Given the description of an element on the screen output the (x, y) to click on. 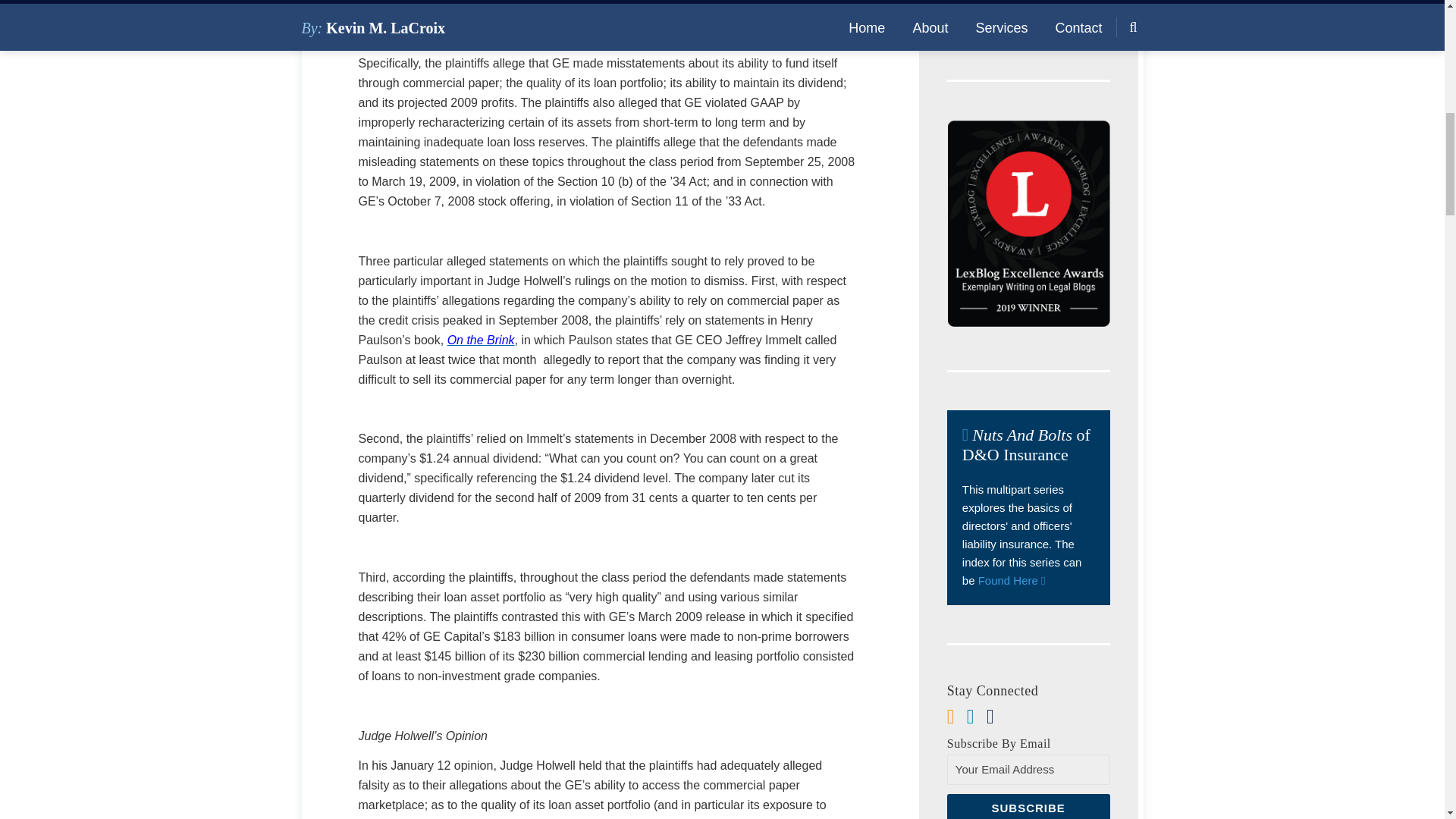
On the Brink (480, 339)
Subscribe (1028, 806)
